Given the description of an element on the screen output the (x, y) to click on. 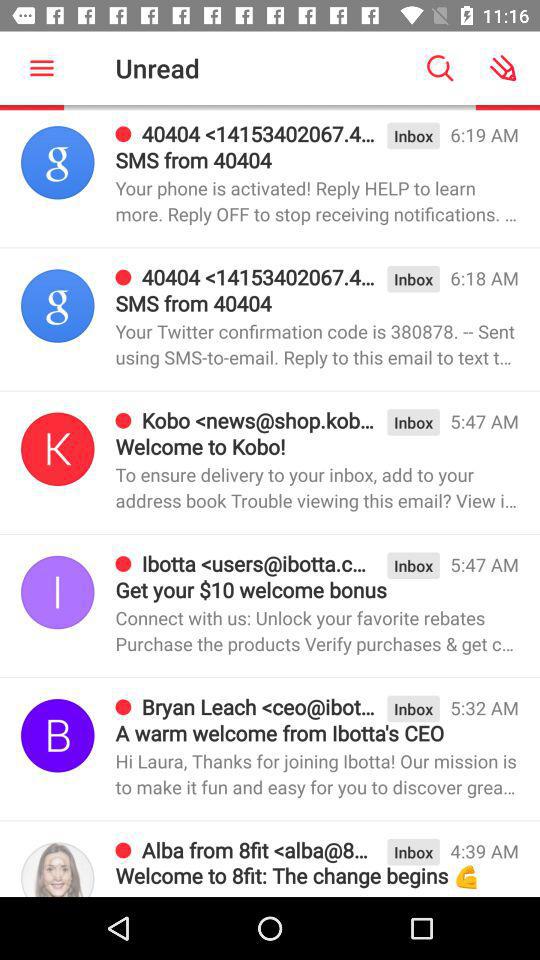
click the search button on the web page (439, 68)
select the 2nd circular shaped red dot on the web page (124, 277)
click on menu button at top left corner of the page (41, 68)
